Given the description of an element on the screen output the (x, y) to click on. 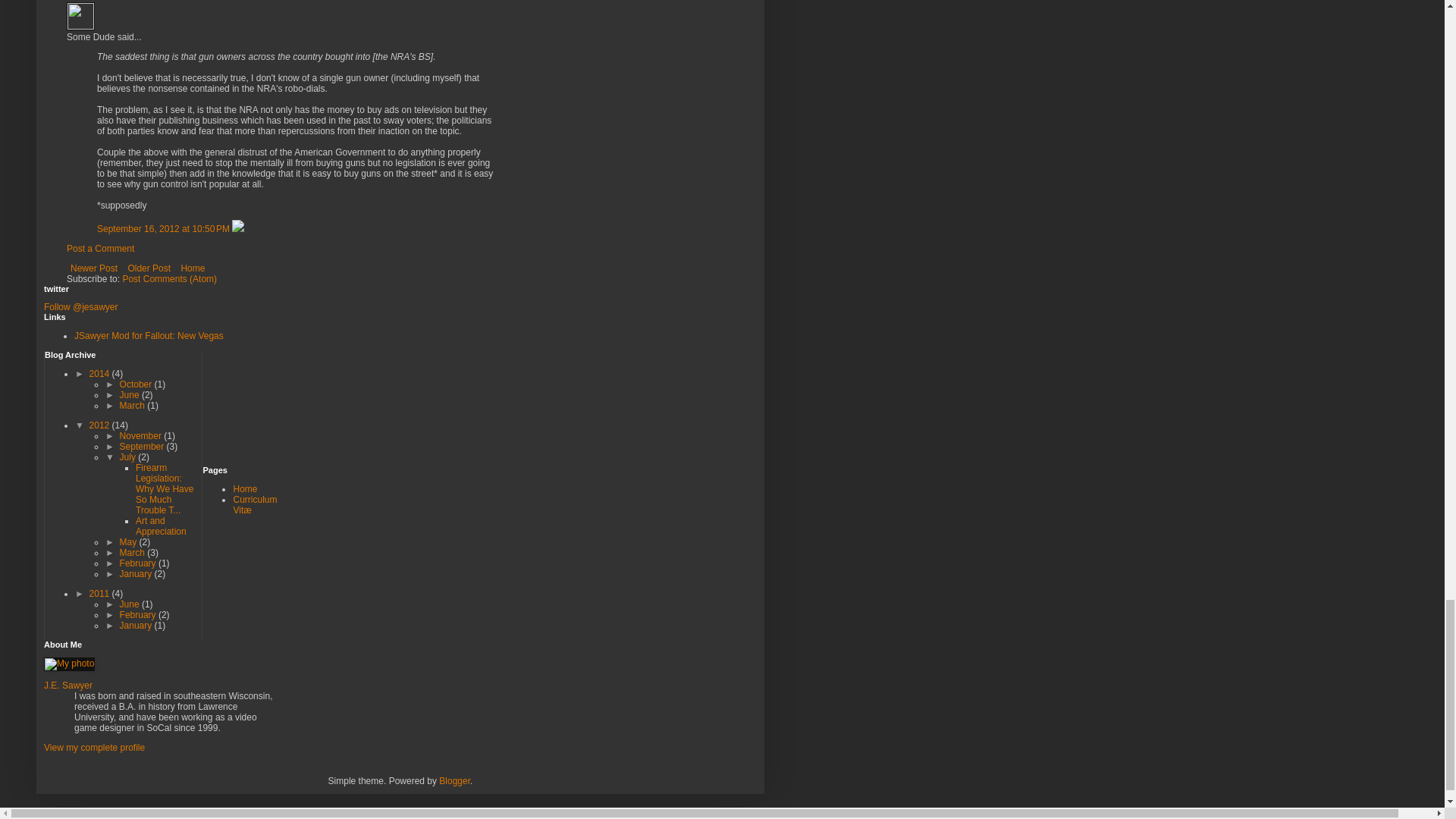
March (133, 405)
Home (192, 268)
Newer Post (93, 268)
Older Post (148, 268)
2014 (100, 373)
October (136, 384)
June (130, 394)
comment permalink (164, 228)
Post a Comment (99, 248)
2012 (100, 425)
September (143, 446)
November (141, 435)
JSawyer Mod for Fallout: New Vegas (149, 335)
Delete Comment (237, 228)
